Given the description of an element on the screen output the (x, y) to click on. 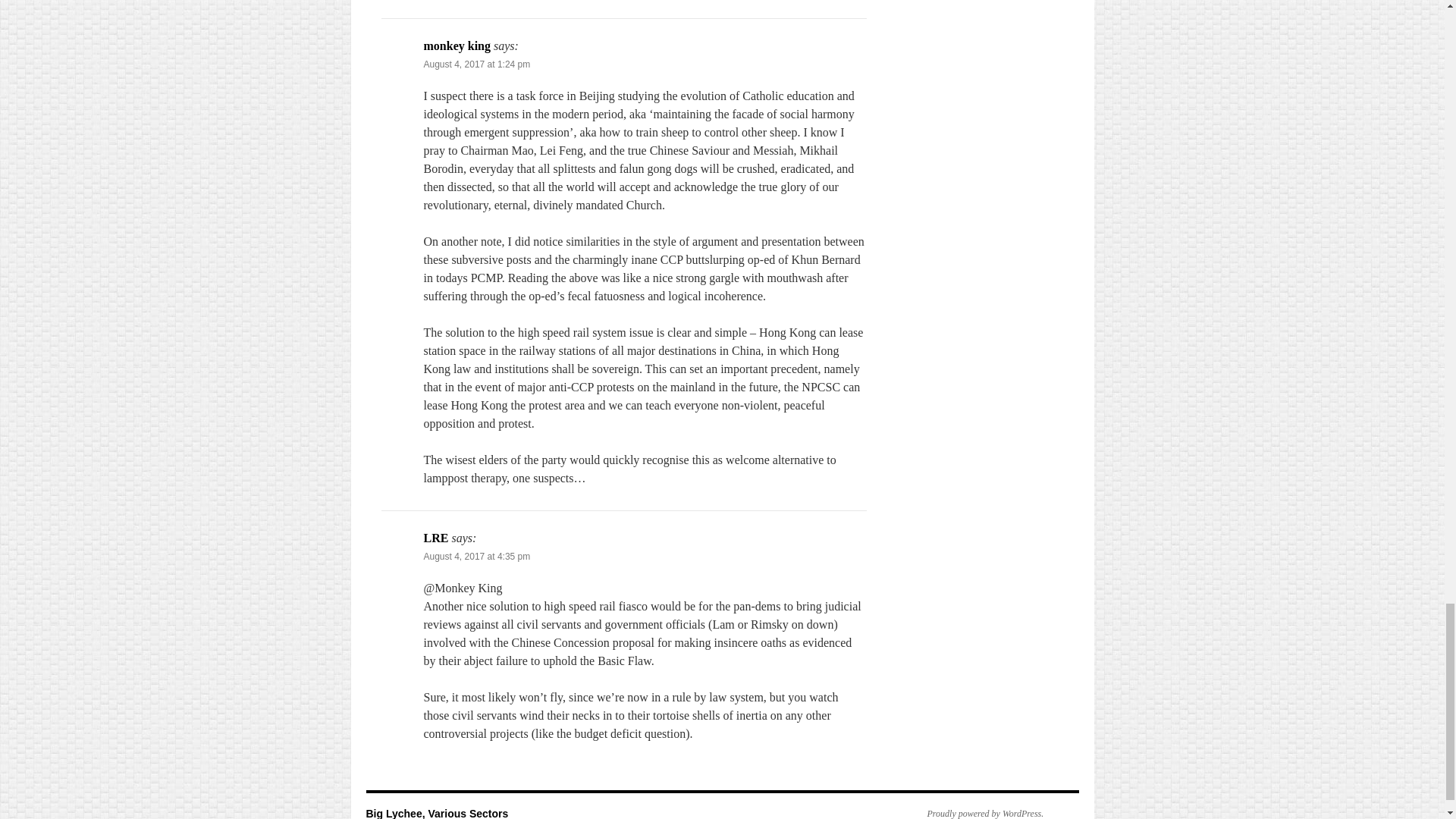
August 4, 2017 at 1:24 pm (476, 63)
August 4, 2017 at 4:35 pm (476, 556)
